Given the description of an element on the screen output the (x, y) to click on. 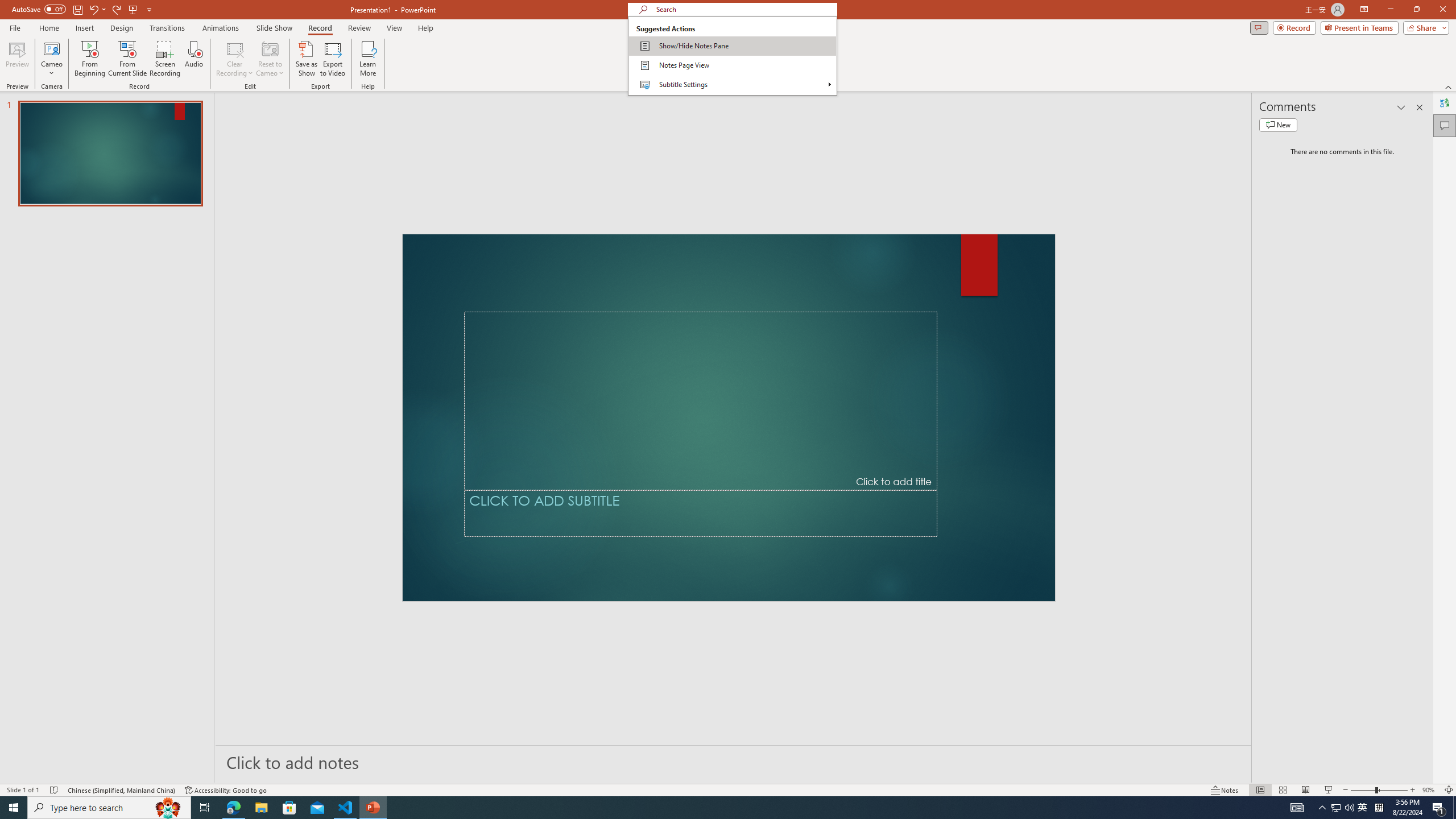
Zoom 90% (1430, 790)
